Given the description of an element on the screen output the (x, y) to click on. 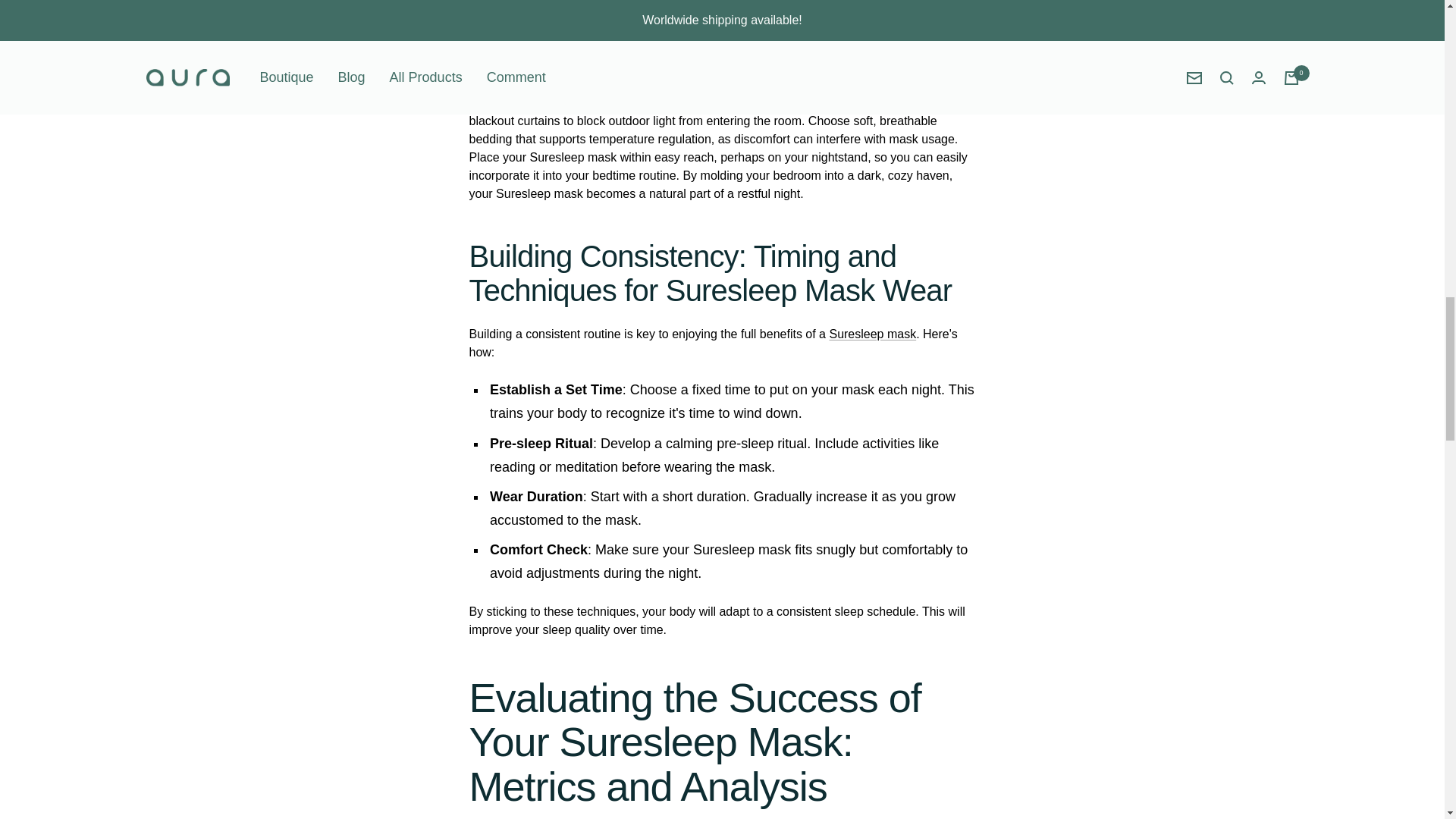
Suresleep mask (672, 83)
Suresleep mask (871, 333)
